Given the description of an element on the screen output the (x, y) to click on. 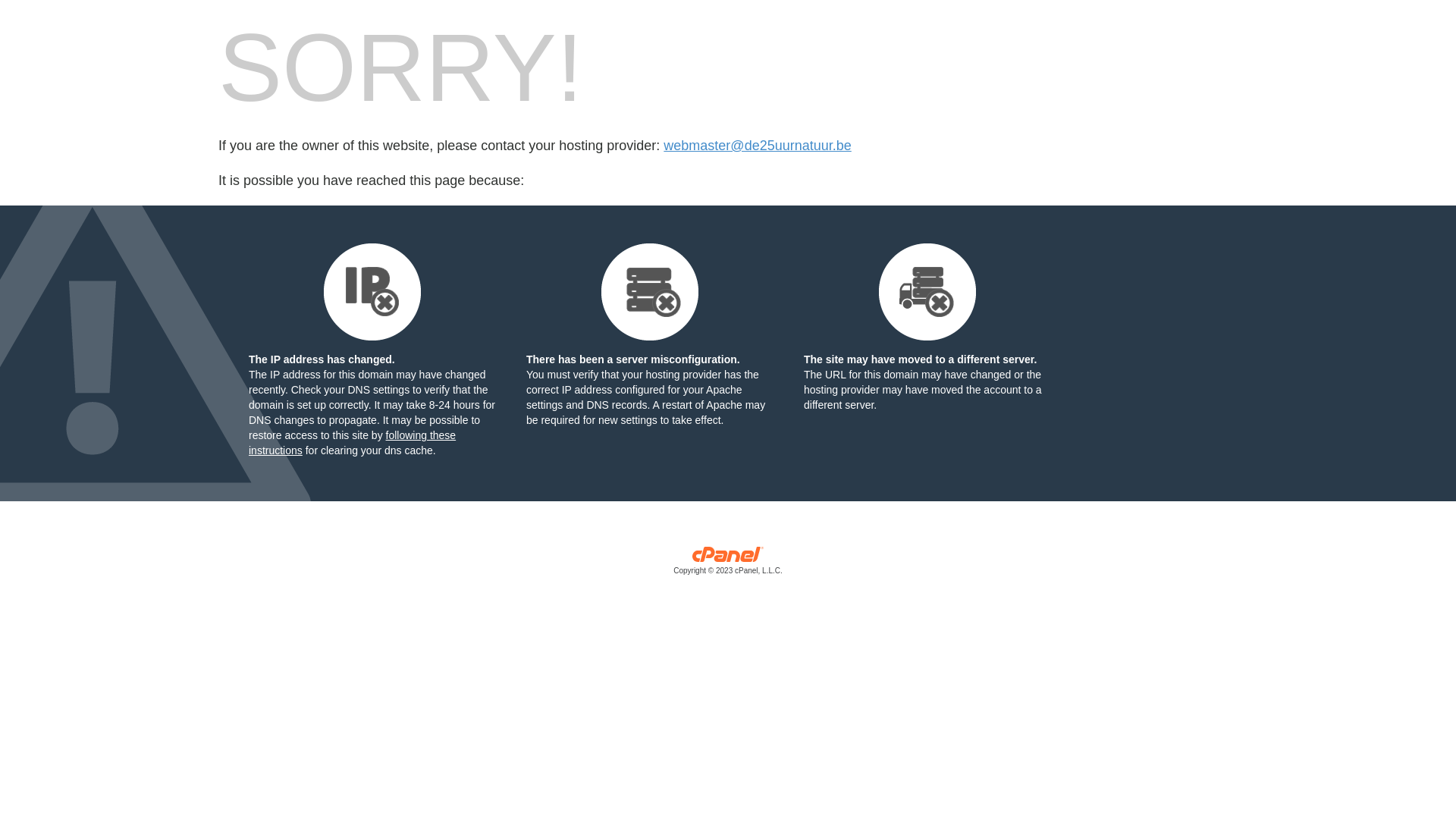
webmaster@de25uurnatuur.be Element type: text (756, 145)
following these instructions Element type: text (351, 442)
